Given the description of an element on the screen output the (x, y) to click on. 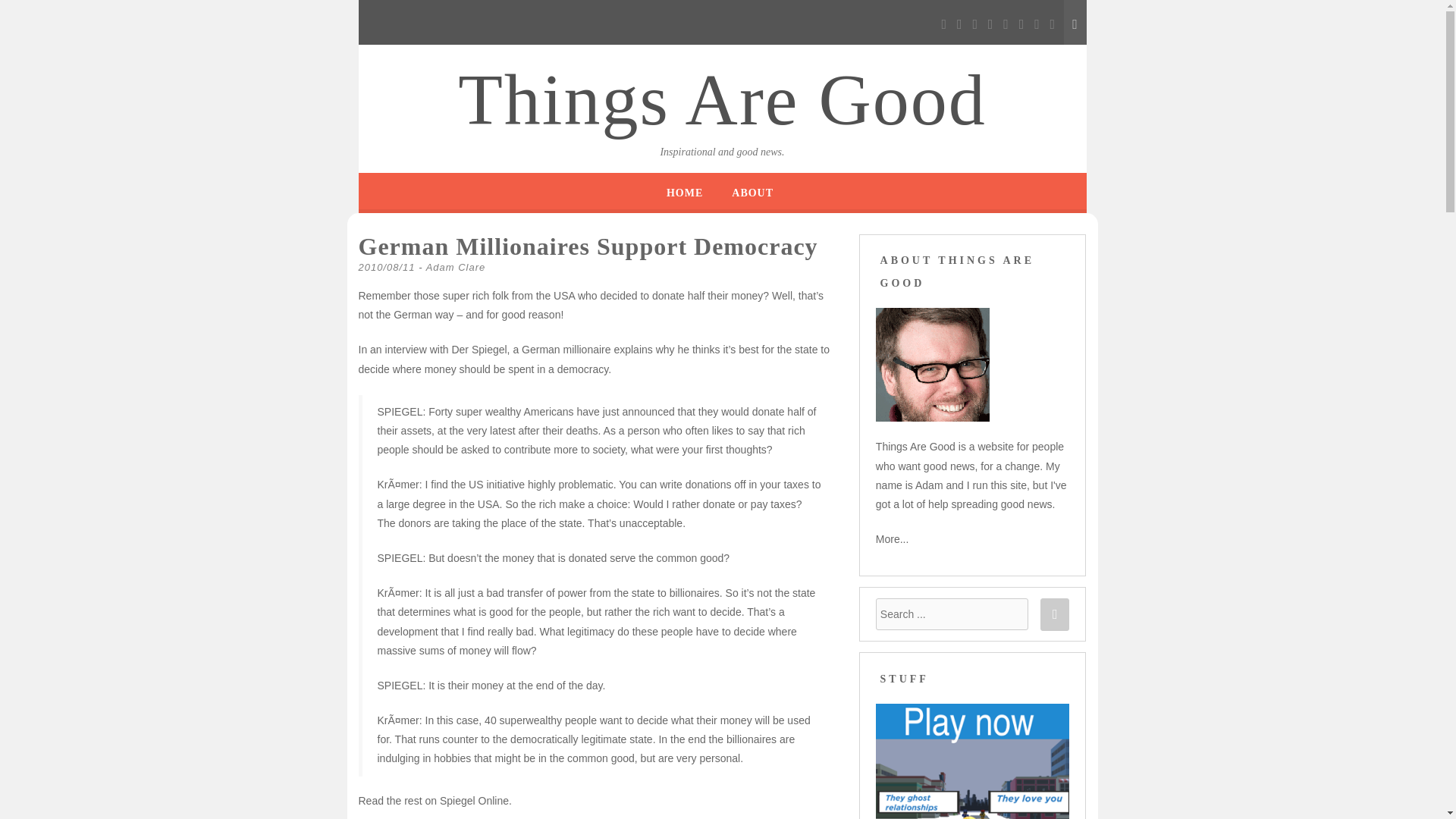
More... (892, 539)
Adam Clare (456, 266)
Adam (933, 364)
Read the rest on Spiegel Online. (434, 800)
ABOUT (752, 192)
HOME (684, 192)
Things Are Good (722, 99)
